Given the description of an element on the screen output the (x, y) to click on. 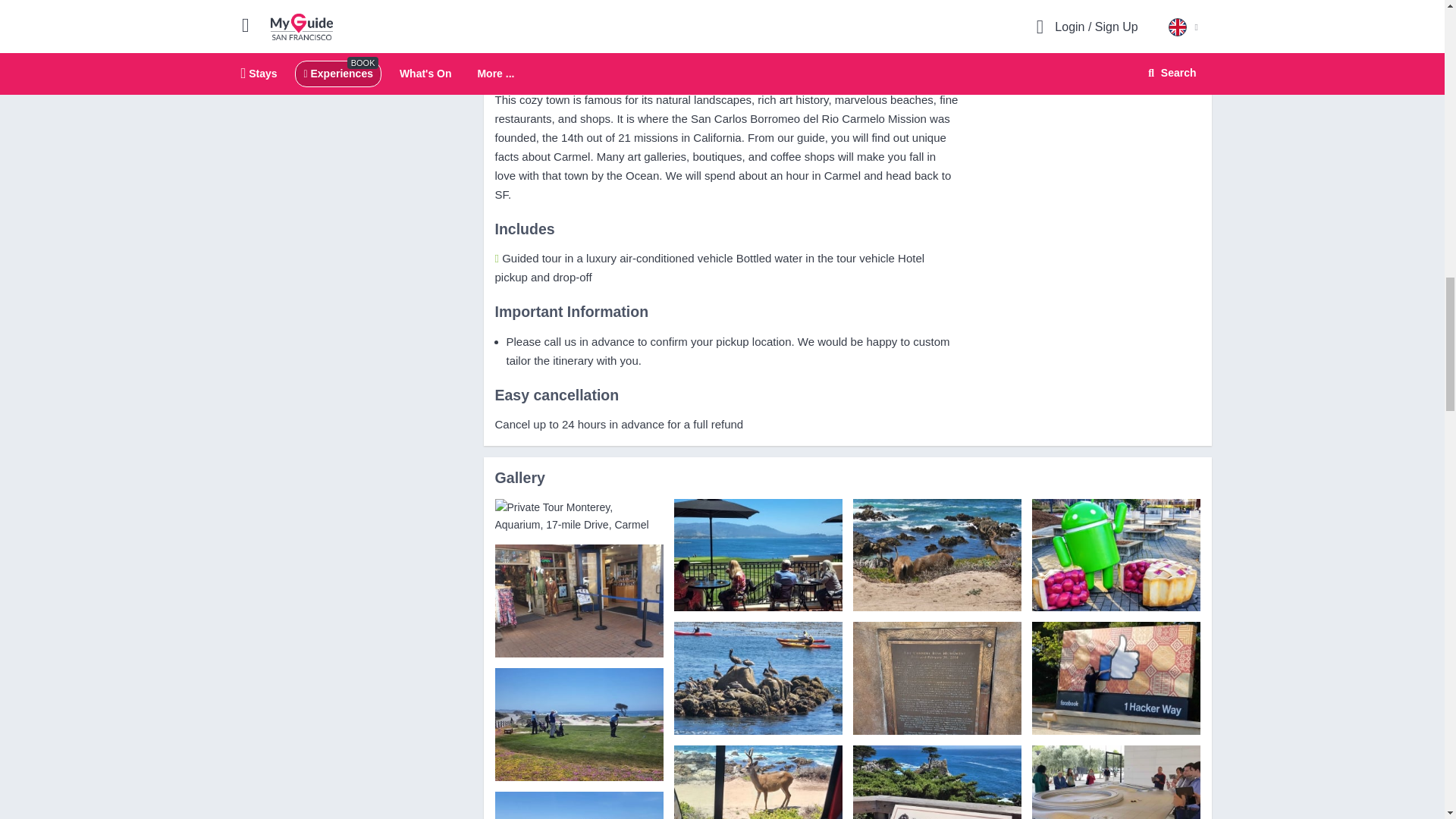
Private Tour Monterey, Aquarium, 17-mile Drive, Carmel (578, 516)
Private Tour Monterey, Aquarium, 17-mile Drive, Carmel (578, 600)
